Given the description of an element on the screen output the (x, y) to click on. 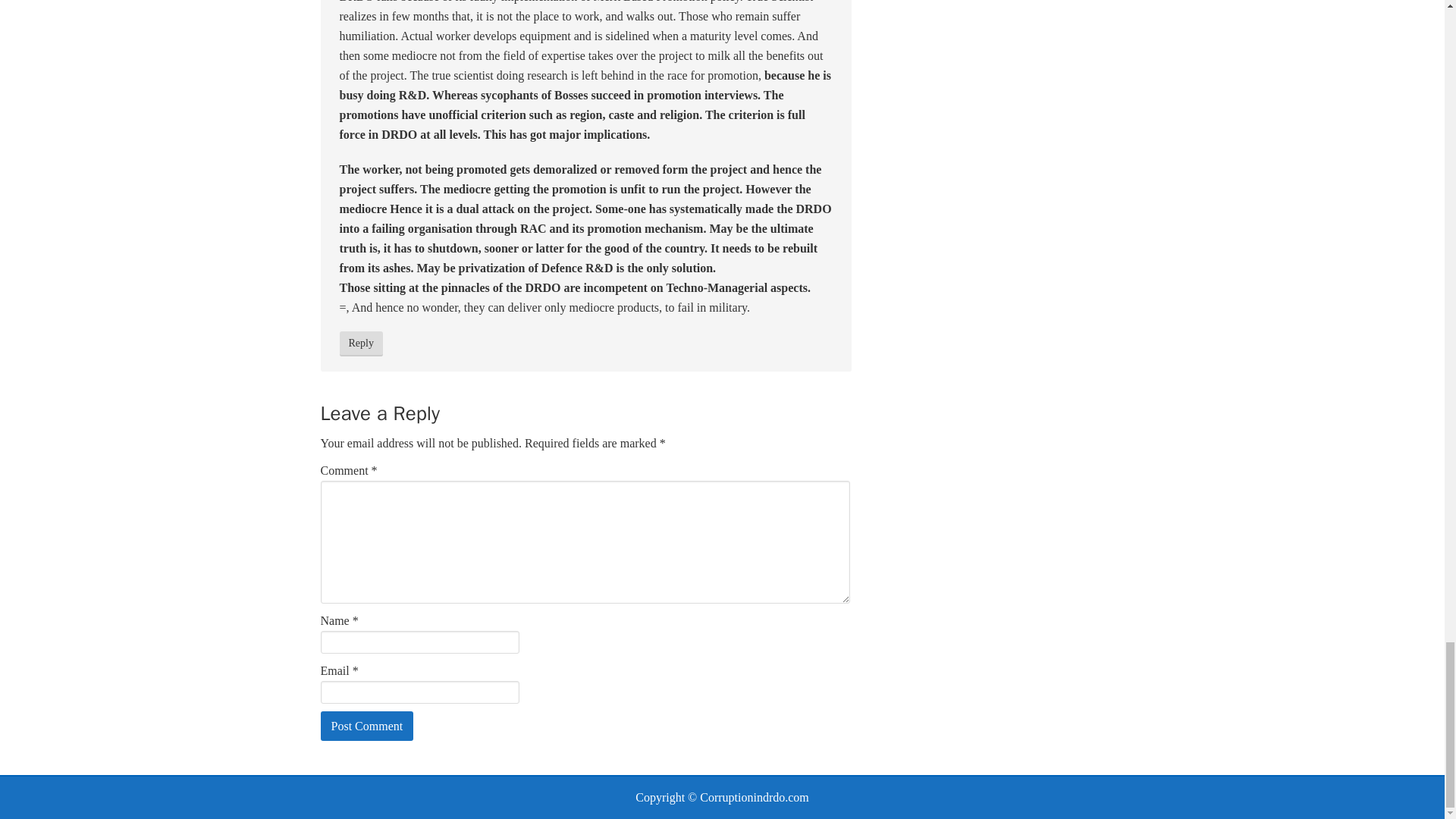
Reply (360, 343)
Post Comment (366, 726)
Post Comment (366, 726)
